Given the description of an element on the screen output the (x, y) to click on. 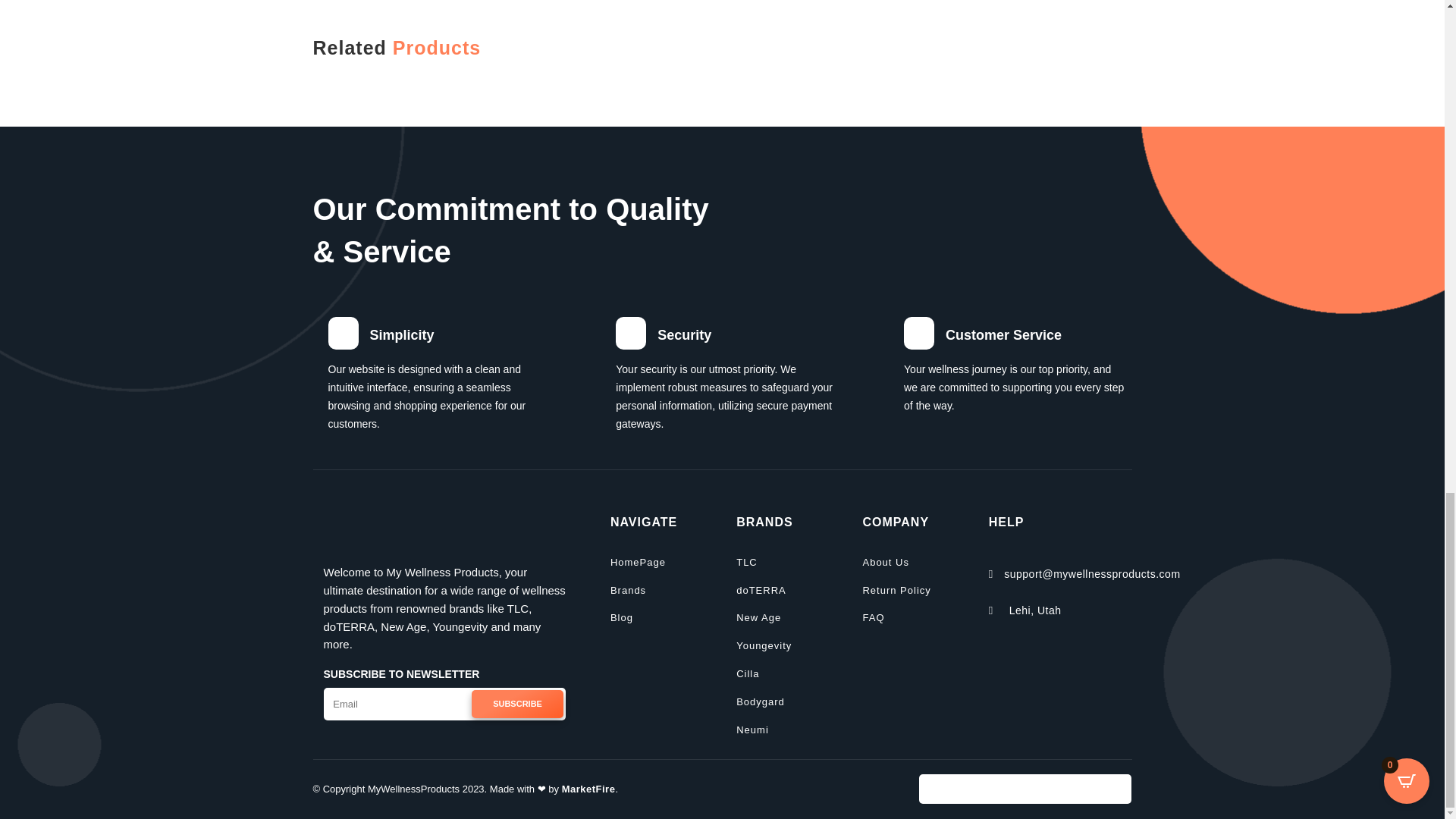
TLC (746, 563)
SUBSCRIBE (517, 704)
New Age (758, 619)
Blog (621, 619)
HomePage (637, 563)
Neumi (752, 731)
Return Policy (895, 591)
MyWellnessProducts Logo (444, 534)
Cilla (747, 675)
Molti-Payment-Methods-footer (1025, 788)
Bodygard (760, 703)
About Us (884, 563)
doTERRA (761, 591)
Youngevity (764, 647)
Brands (628, 591)
